Given the description of an element on the screen output the (x, y) to click on. 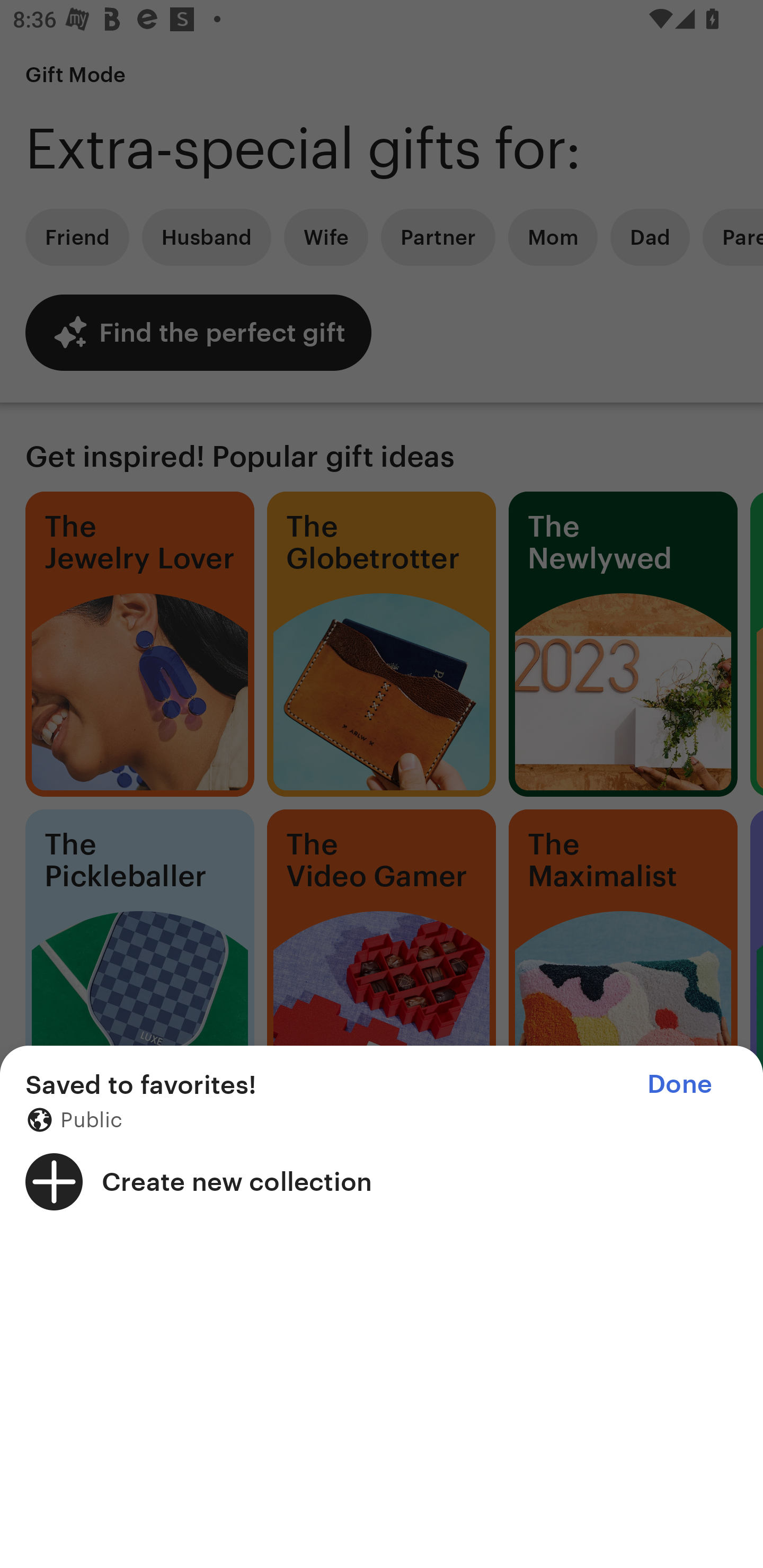
Done (679, 1083)
Create new collection (381, 1181)
